Given the description of an element on the screen output the (x, y) to click on. 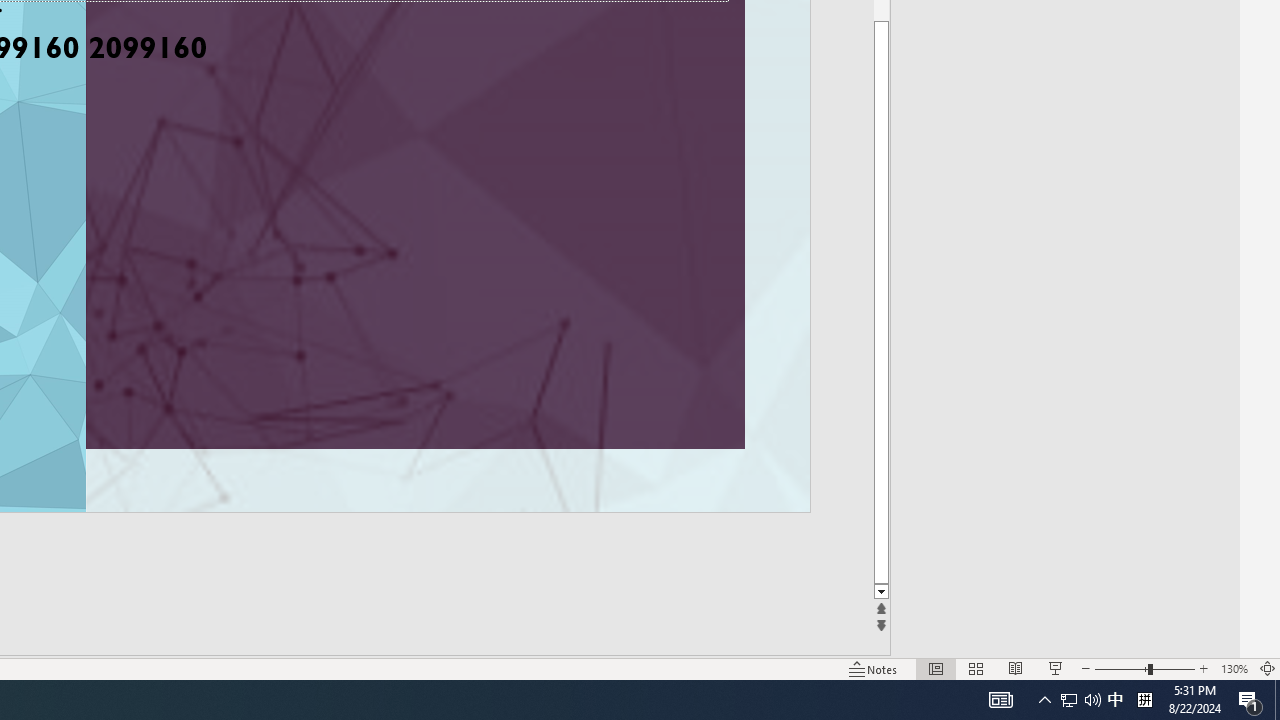
Zoom 130% (1234, 668)
